Given the description of an element on the screen output the (x, y) to click on. 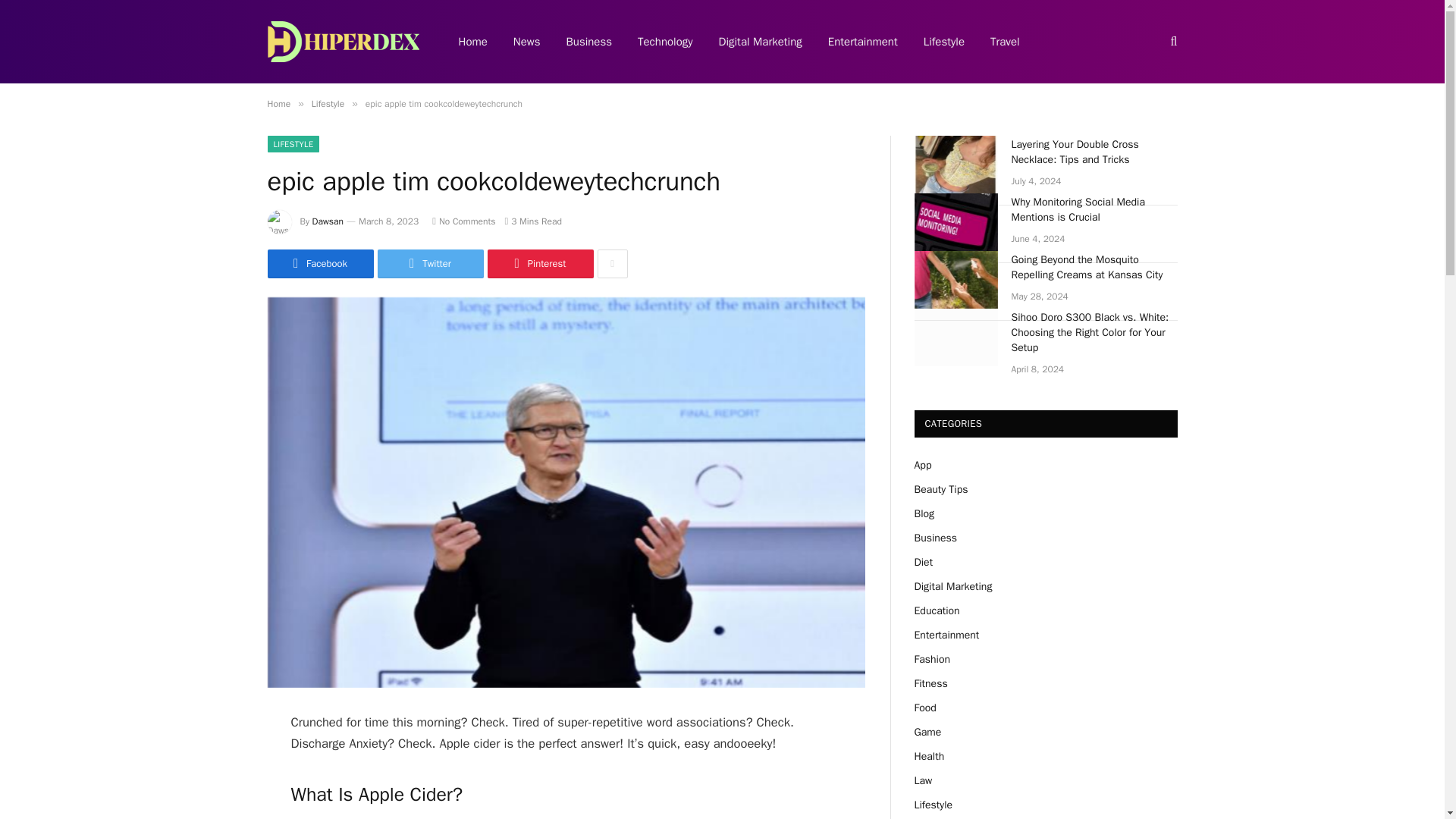
Technology (665, 41)
Hiperdex.me (342, 41)
Digital Marketing (760, 41)
Share on Facebook (319, 263)
LIFESTYLE (292, 143)
Show More Social Sharing (611, 263)
Pinterest (539, 263)
Home (277, 103)
Lifestyle (327, 103)
Dawsan (328, 221)
Posts by Dawsan (328, 221)
Twitter (430, 263)
No Comments (463, 221)
Share on Pinterest (539, 263)
